Given the description of an element on the screen output the (x, y) to click on. 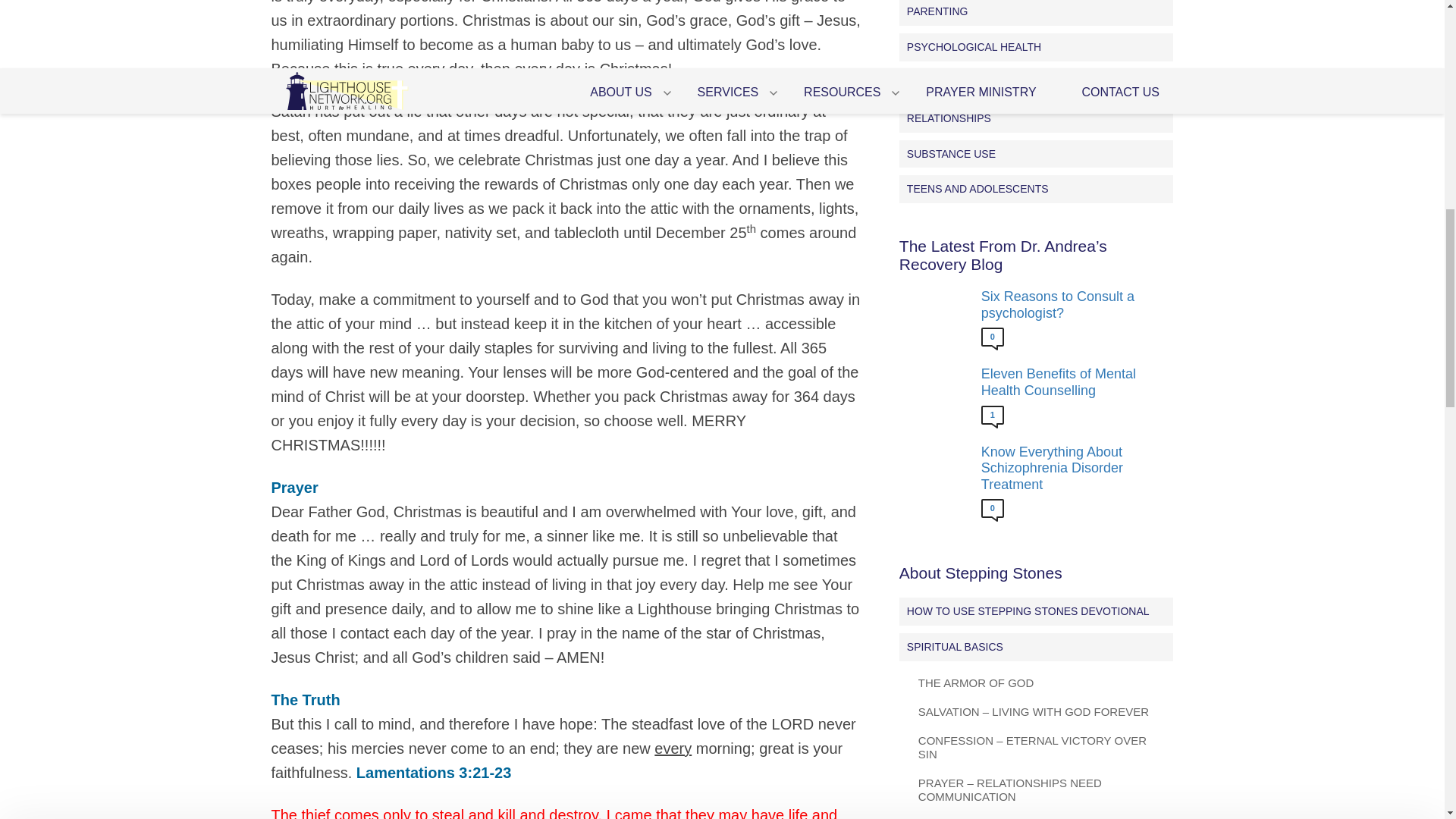
Eleven Benefits of Mental Health Counselling (1073, 382)
Know Everything About Schizophrenia Disorder Treatment (1073, 468)
Six Reasons to Consult a psychologist? (1073, 305)
